Given the description of an element on the screen output the (x, y) to click on. 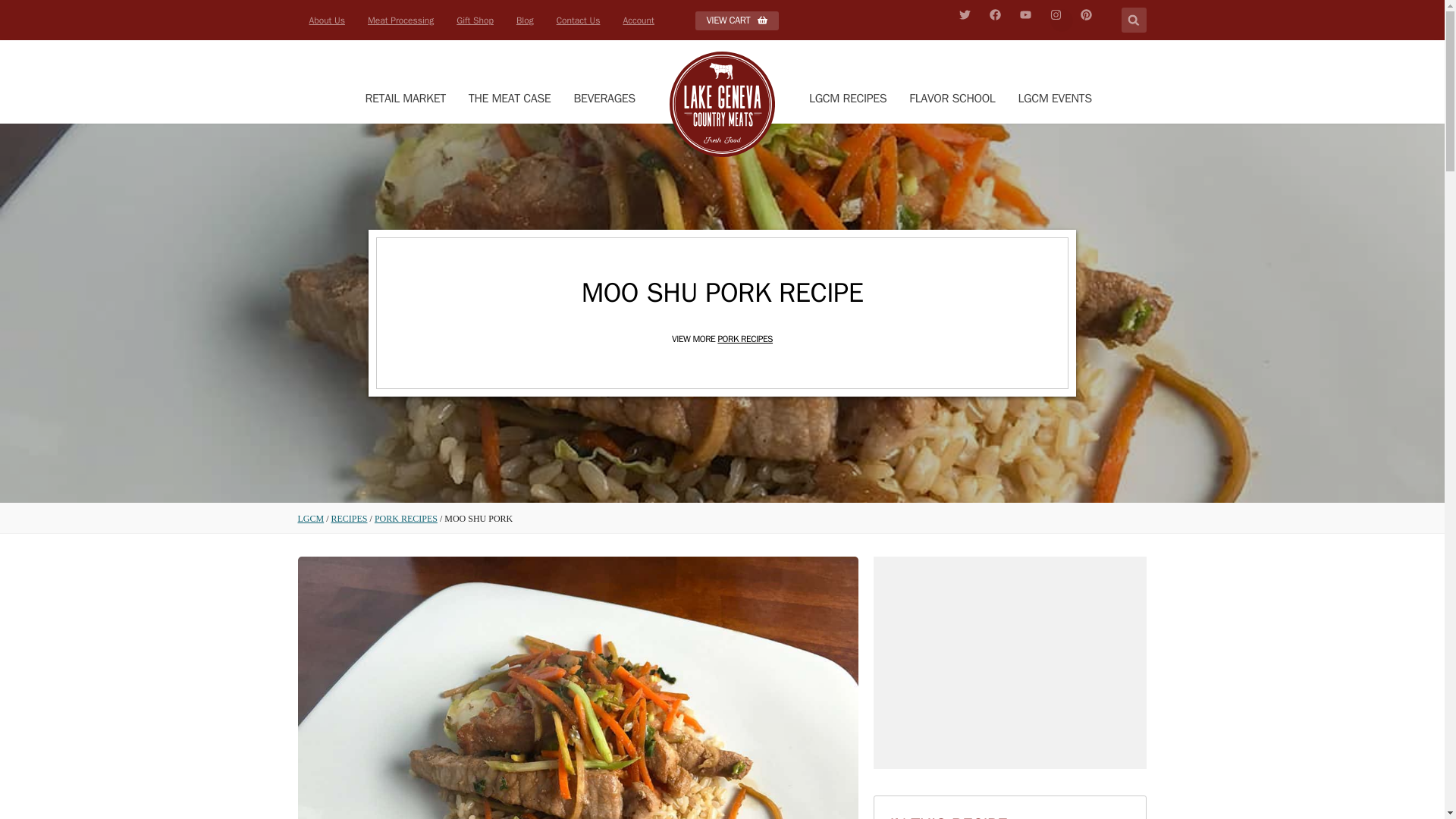
About Us (326, 20)
Blog (524, 20)
Gift Shop (475, 20)
Meat Processing (400, 20)
Advertisement (1010, 662)
THE MEAT CASE (510, 98)
Contact Us (577, 20)
FLAVOR SCHOOL (952, 98)
VIEW CART (736, 19)
RETAIL MARKET (404, 98)
BEVERAGES (604, 98)
Account (638, 20)
LGCM EVENTS (1054, 98)
LGCM RECIPES (847, 98)
